Given the description of an element on the screen output the (x, y) to click on. 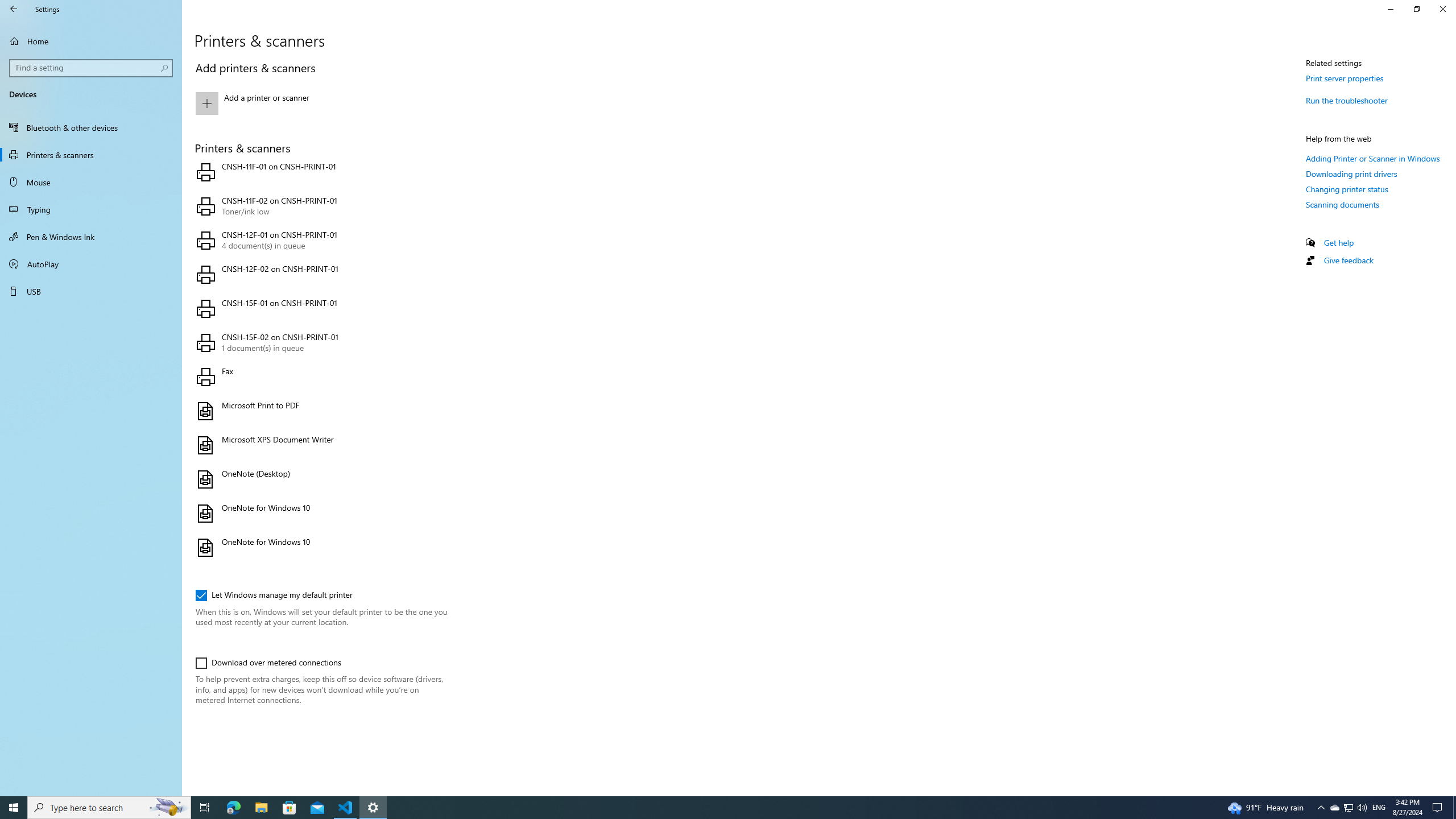
CNSH-12F-01 on CNSH-PRINT-01 4 document(s) in queue (319, 240)
Let Windows manage my default printer (273, 595)
Mouse (91, 181)
CNSH-12F-02 on CNSH-PRINT-01 (319, 274)
OneNote for Windows 10 (319, 547)
